Given the description of an element on the screen output the (x, y) to click on. 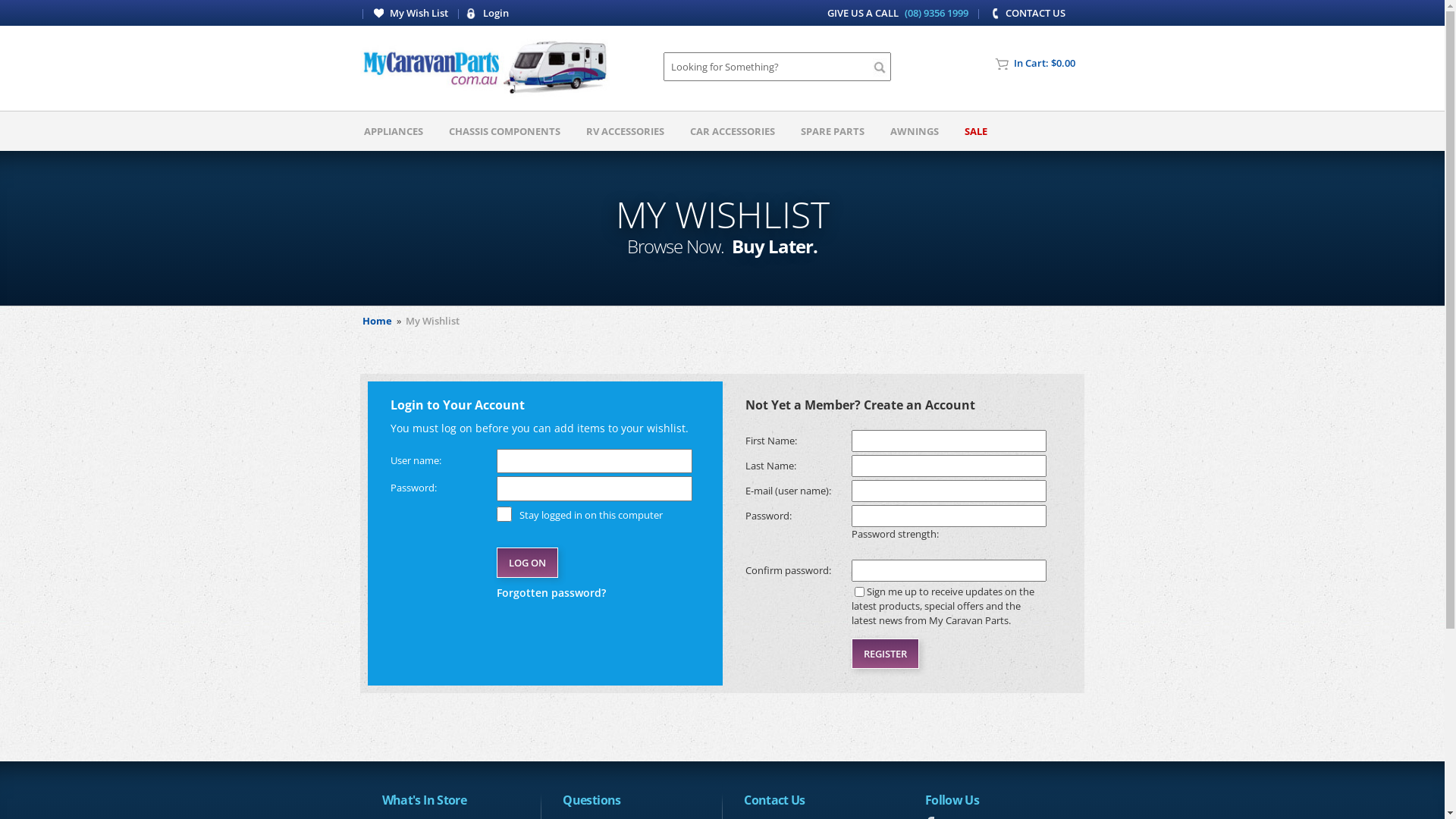
My Caravan Parts Element type: hover (485, 68)
CHASSIS COMPONENTS Element type: text (504, 130)
(08) 9356 1999 Element type: text (936, 12)
Log on Element type: text (527, 562)
Login Element type: text (488, 12)
APPLIANCES Element type: text (393, 130)
In Cart: $0.00 Element type: text (1039, 62)
CAR ACCESSORIES Element type: text (732, 130)
AWNINGS Element type: text (914, 130)
SALE Element type: text (975, 130)
RV ACCESSORIES Element type: text (624, 130)
CONTACT US Element type: text (1028, 12)
Home Element type: text (377, 320)
My Wish List Element type: text (411, 12)
Forgotten password? Element type: text (594, 592)
Register Element type: text (884, 653)
SPARE PARTS Element type: text (832, 130)
